Given the description of an element on the screen output the (x, y) to click on. 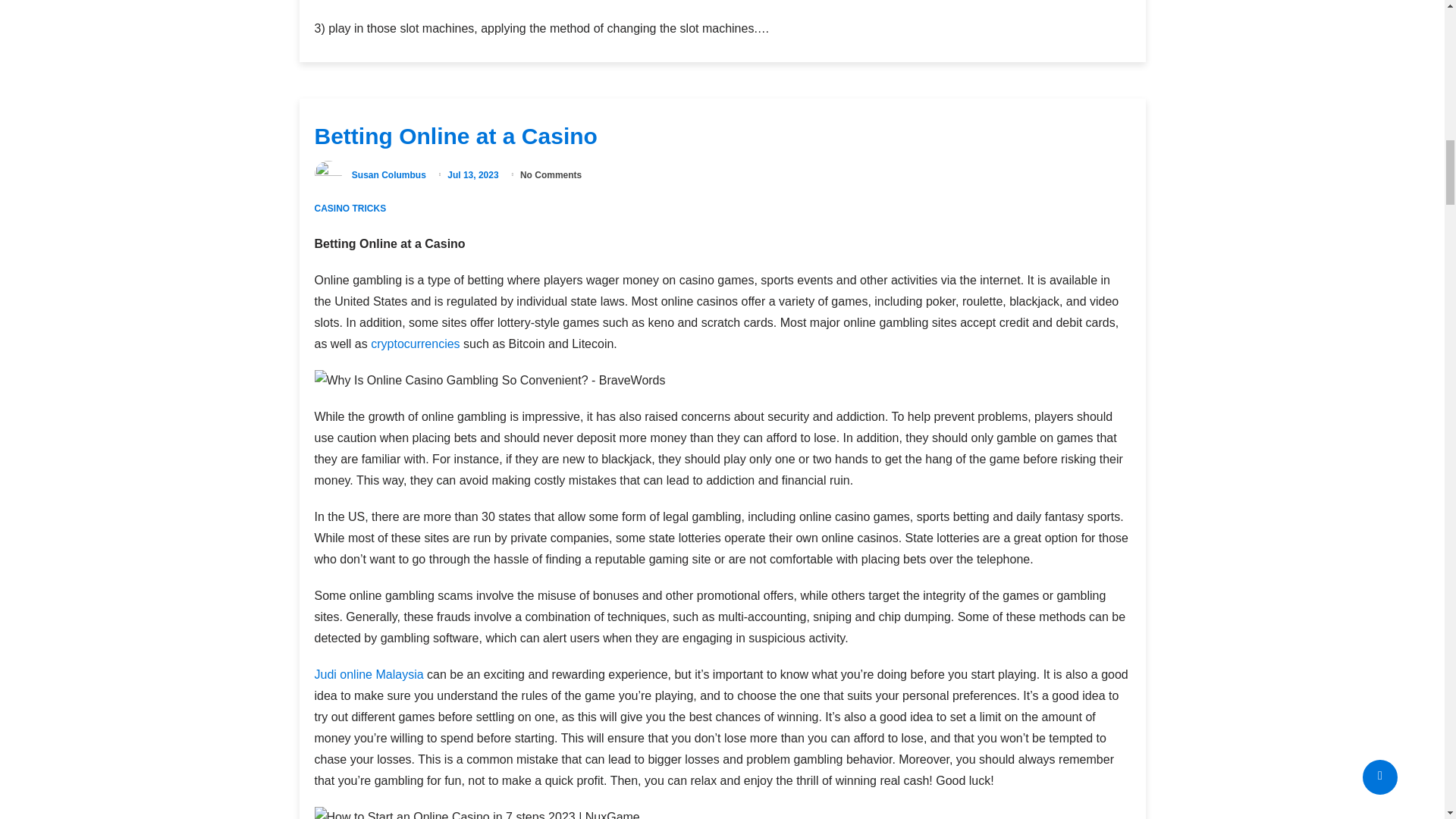
Judi online Malaysia (368, 674)
Betting Online at a Casino  (459, 135)
CASINO TRICKS (349, 208)
Jul 13, 2023 (473, 174)
cryptocurrencies (415, 343)
Susan Columbus (389, 174)
